Given the description of an element on the screen output the (x, y) to click on. 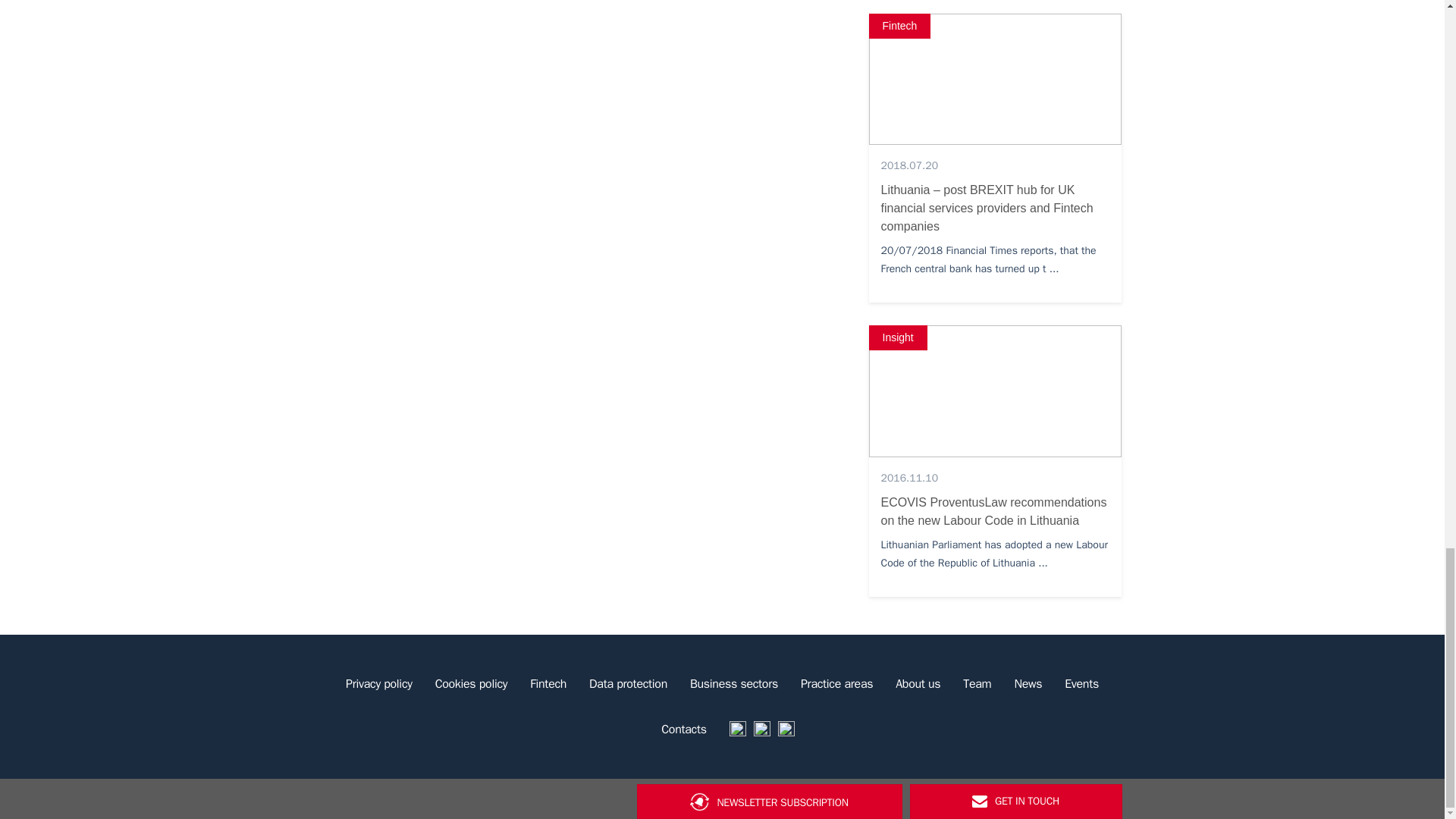
Fintech (548, 683)
Data protection (628, 683)
Business sectors (733, 683)
Cookies policy (471, 683)
Privacy policy (378, 683)
